Given the description of an element on the screen output the (x, y) to click on. 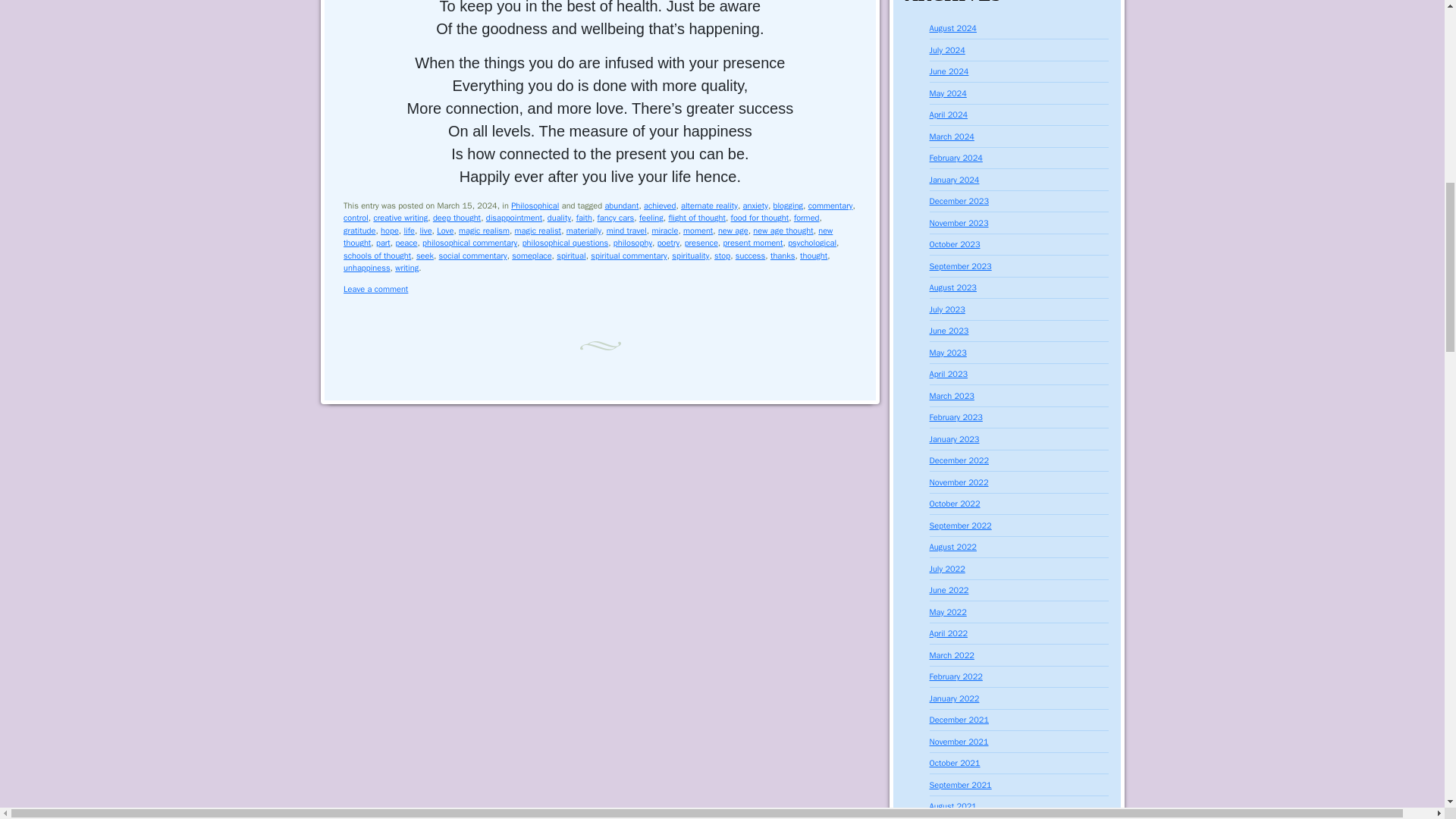
miracle (664, 230)
creative writing (400, 217)
commentary (830, 204)
live (426, 230)
achieved (659, 204)
part (382, 242)
feeling (651, 217)
Love (444, 230)
hope (389, 230)
flight of thought (696, 217)
gratitude (359, 230)
new age thought (782, 230)
new age (732, 230)
blogging (788, 204)
deep thought (456, 217)
